Given the description of an element on the screen output the (x, y) to click on. 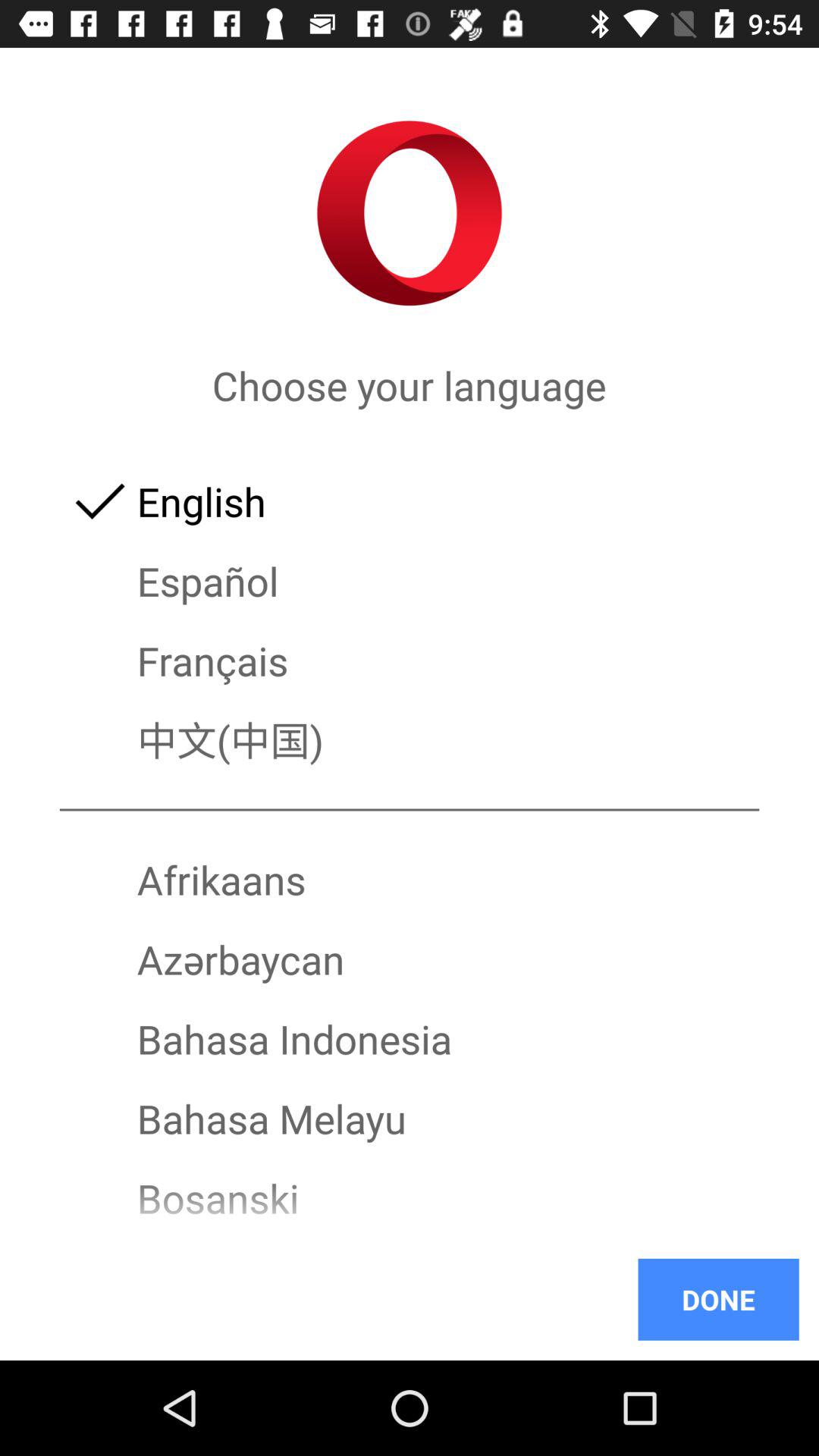
choose item below the bahasa indonesia icon (409, 1118)
